Given the description of an element on the screen output the (x, y) to click on. 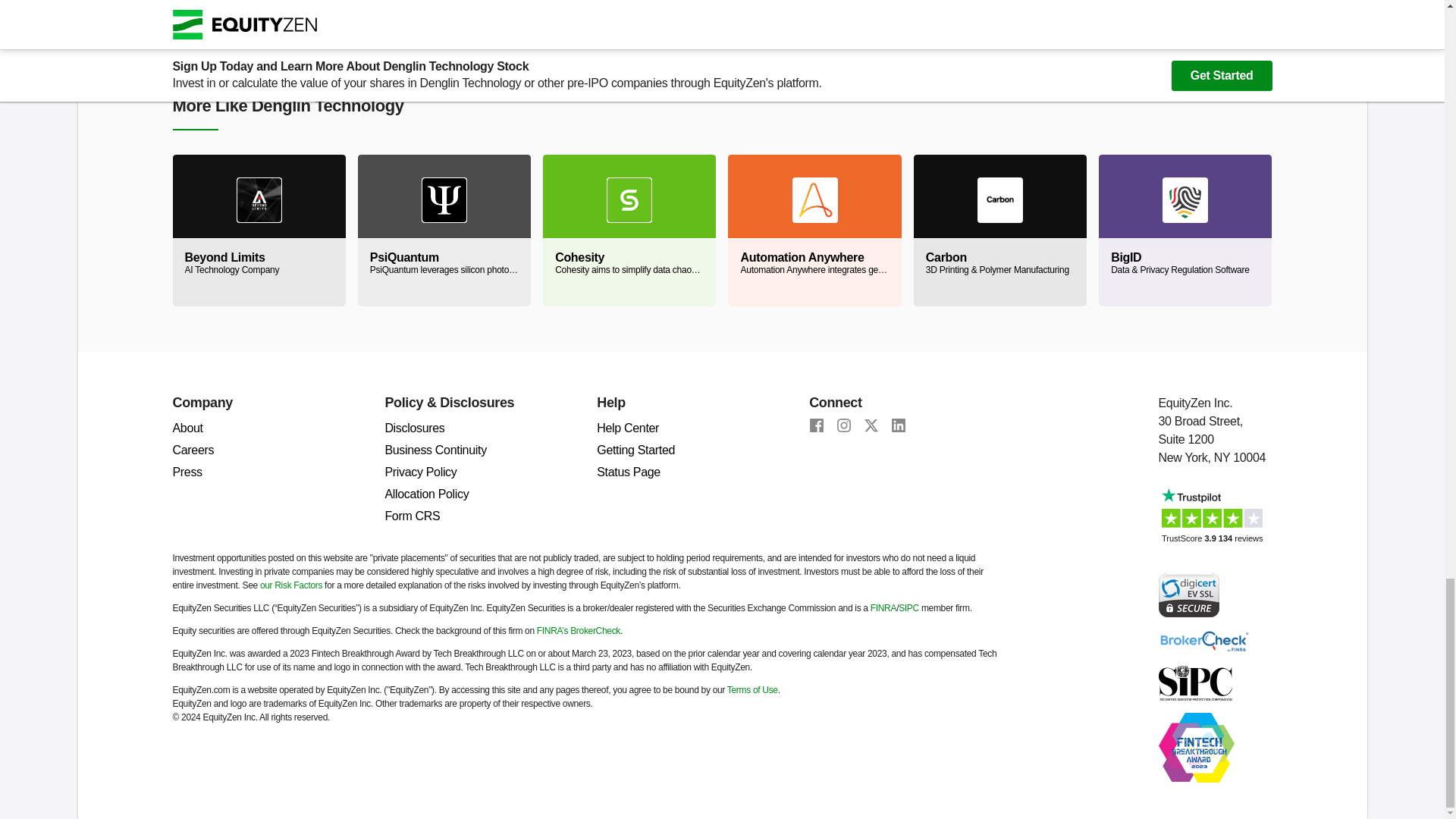
Help Center (627, 427)
Allocation Policy (426, 493)
FINRA (883, 607)
Verify Digicert EV Certificate (1189, 594)
our Risk Factors (290, 584)
Privacy Policy (420, 472)
Getting Started (635, 449)
Terms of Use (751, 689)
Status Page (628, 472)
